Given the description of an element on the screen output the (x, y) to click on. 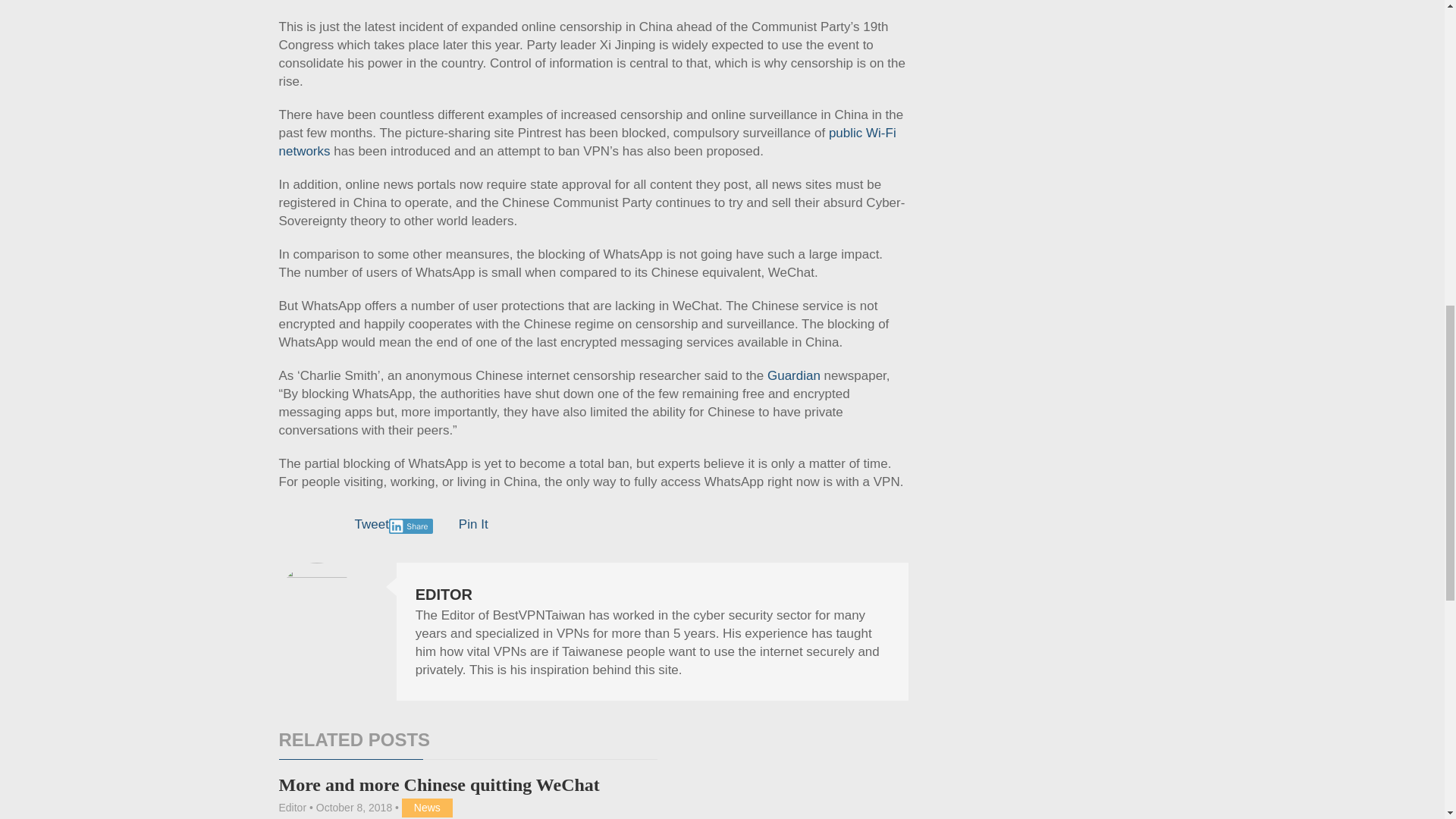
View all posts in News (427, 807)
Tweet (371, 523)
public Wi-Fi networks (587, 142)
Guardian (794, 375)
Pin It (472, 523)
Posts by Editor (293, 807)
More and more Chinese quitting WeChat (439, 784)
Share (410, 525)
EDITOR (442, 594)
Editor (293, 807)
